Given the description of an element on the screen output the (x, y) to click on. 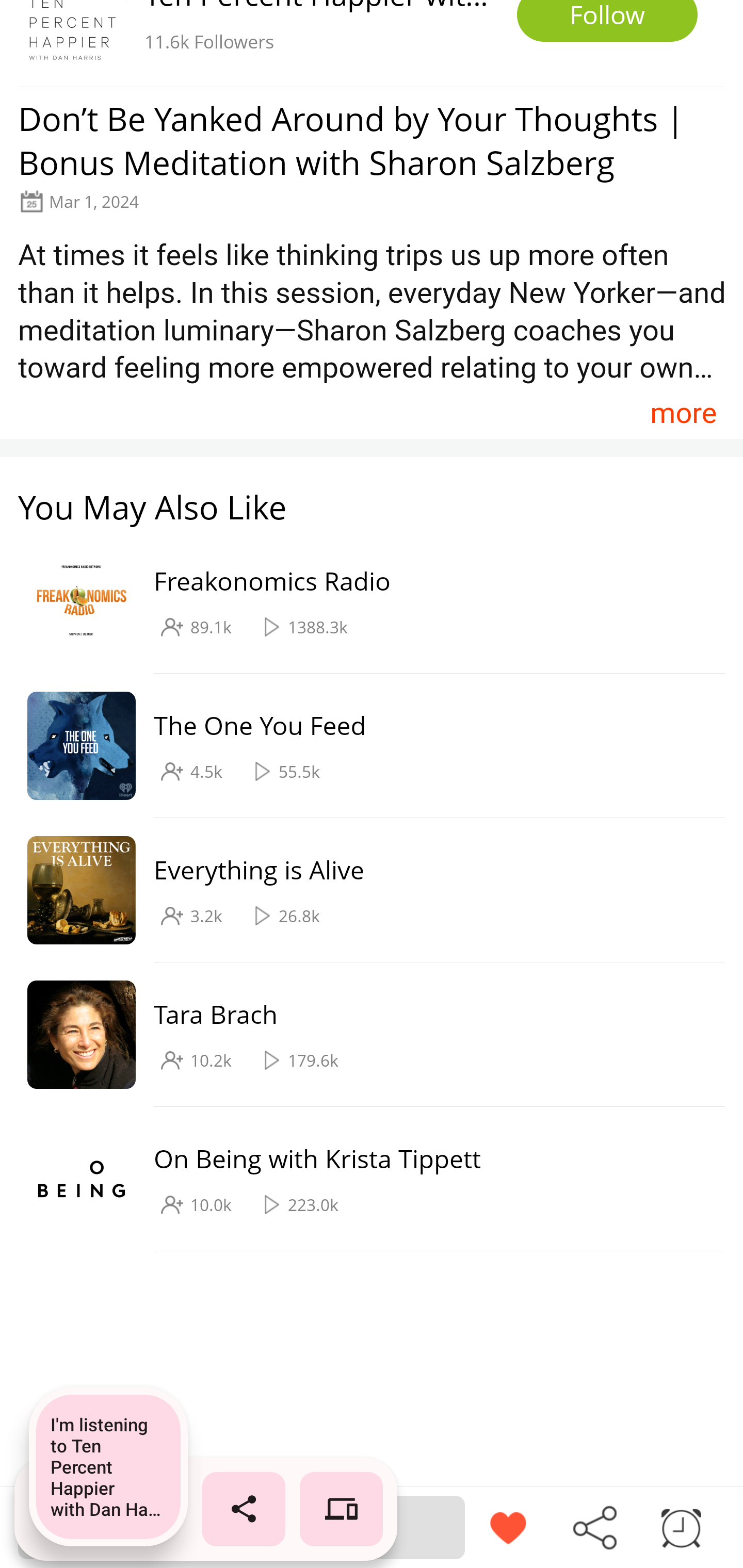
Follow (607, 21)
more (682, 412)
Freakonomics Radio 89.1k 1388.3k (362, 601)
The One You Feed 4.5k 55.5k (362, 746)
Everything is Alive 3.2k 26.8k (362, 890)
Tara Brach 10.2k 179.6k (362, 1034)
On Being with Krista Tippett 10.0k 223.0k (362, 1179)
Like (508, 1526)
Share (594, 1526)
Sleep timer (681, 1526)
